Given the description of an element on the screen output the (x, y) to click on. 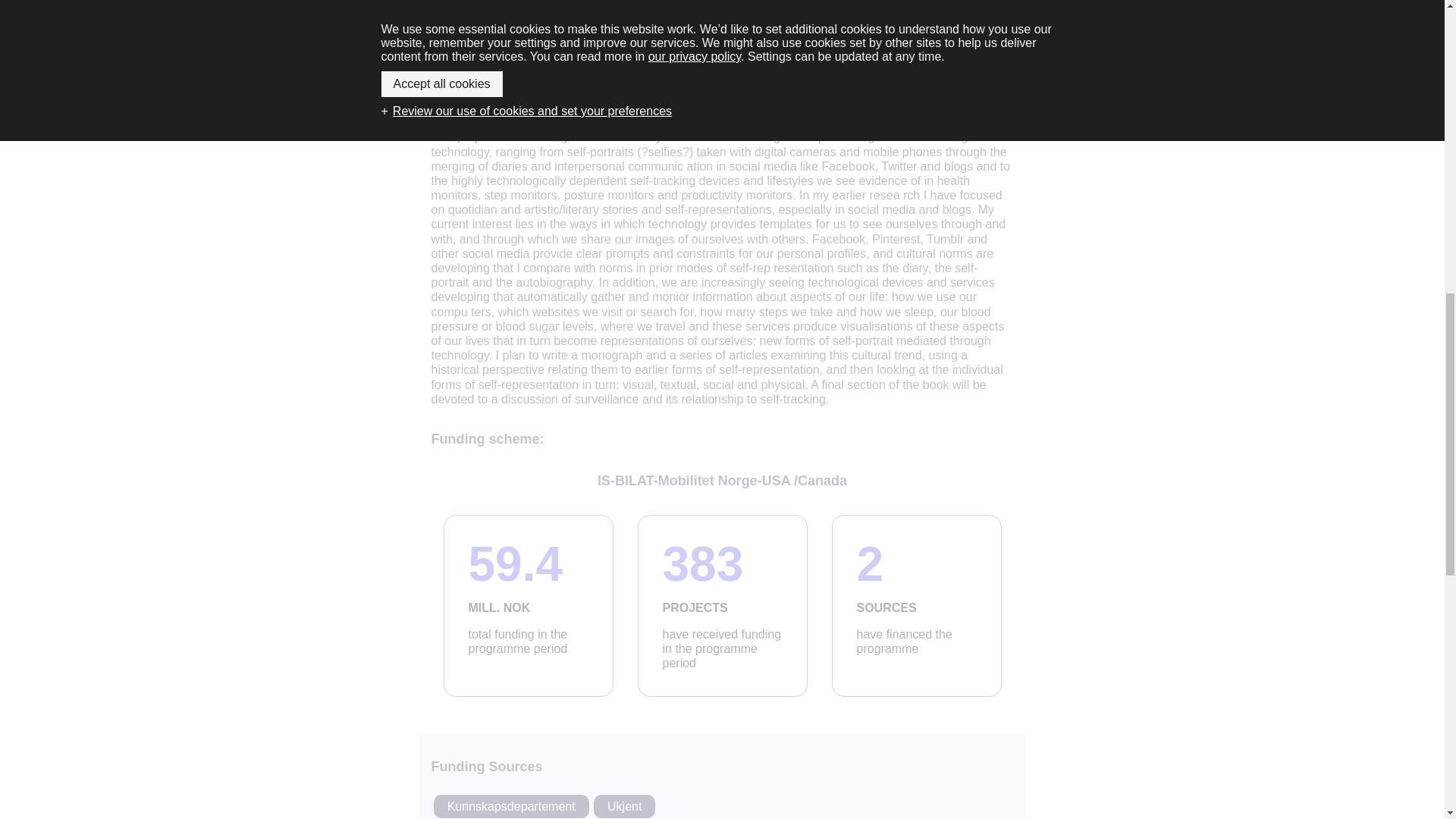
Kunnskapsdepartement (916, 605)
Ukjent (511, 806)
Summary (721, 605)
